Given the description of an element on the screen output the (x, y) to click on. 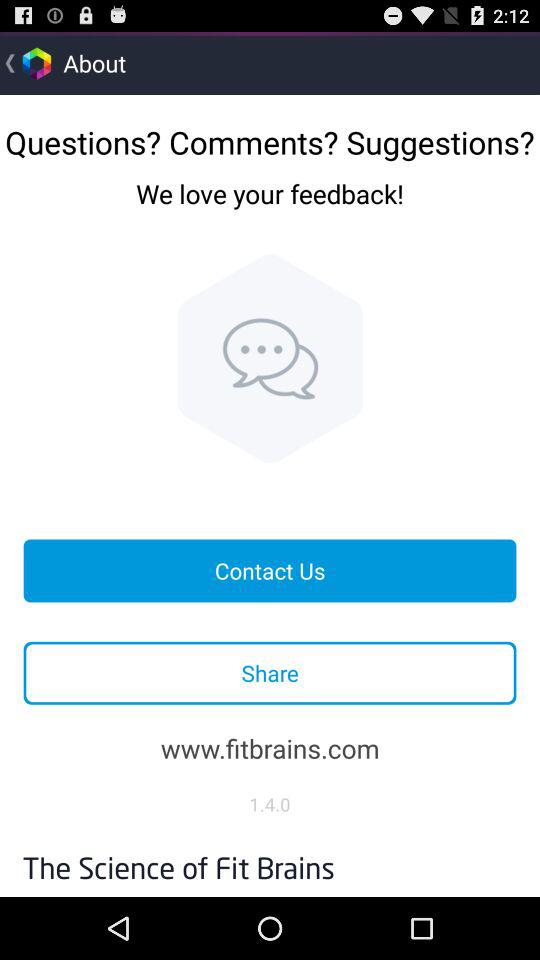
turn off the app below questions? comments? suggestions? (270, 209)
